Given the description of an element on the screen output the (x, y) to click on. 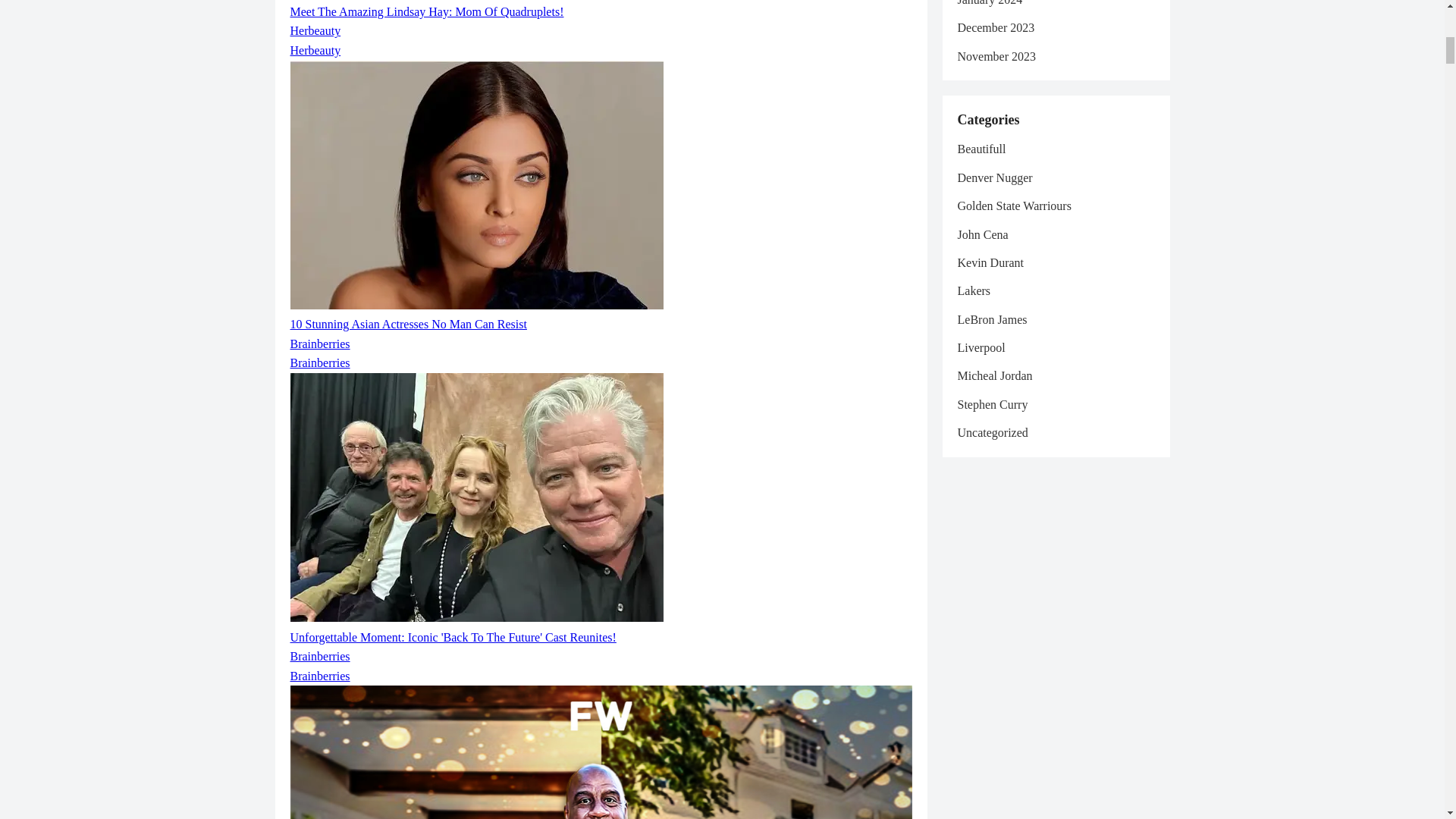
January 2024 (989, 2)
